Given the description of an element on the screen output the (x, y) to click on. 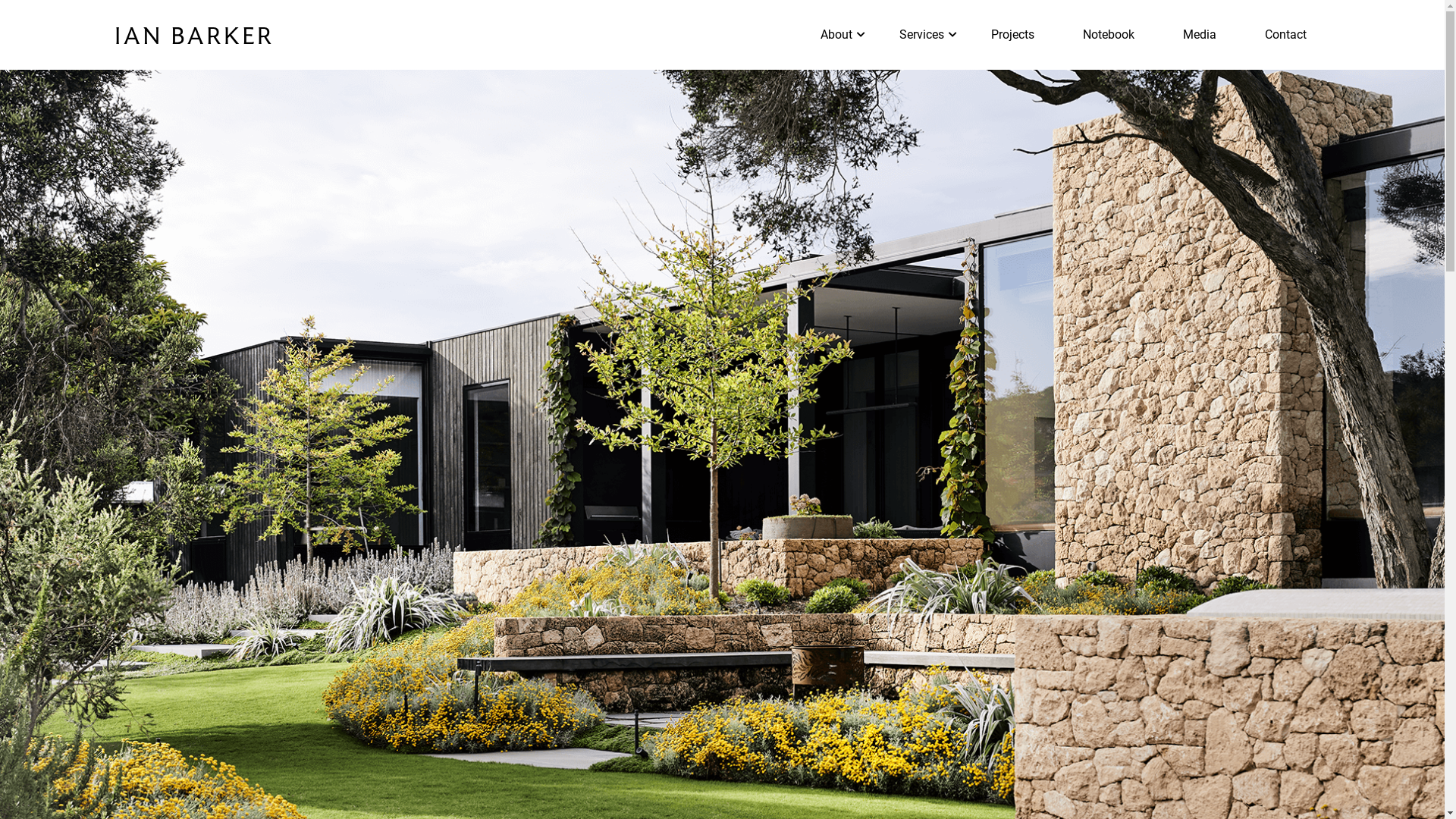
About Element type: text (836, 34)
Services Element type: text (921, 34)
Media Element type: text (1199, 34)
Contact Element type: text (1285, 34)
Notebook Element type: text (1108, 34)
Projects Element type: text (1011, 34)
